Given the description of an element on the screen output the (x, y) to click on. 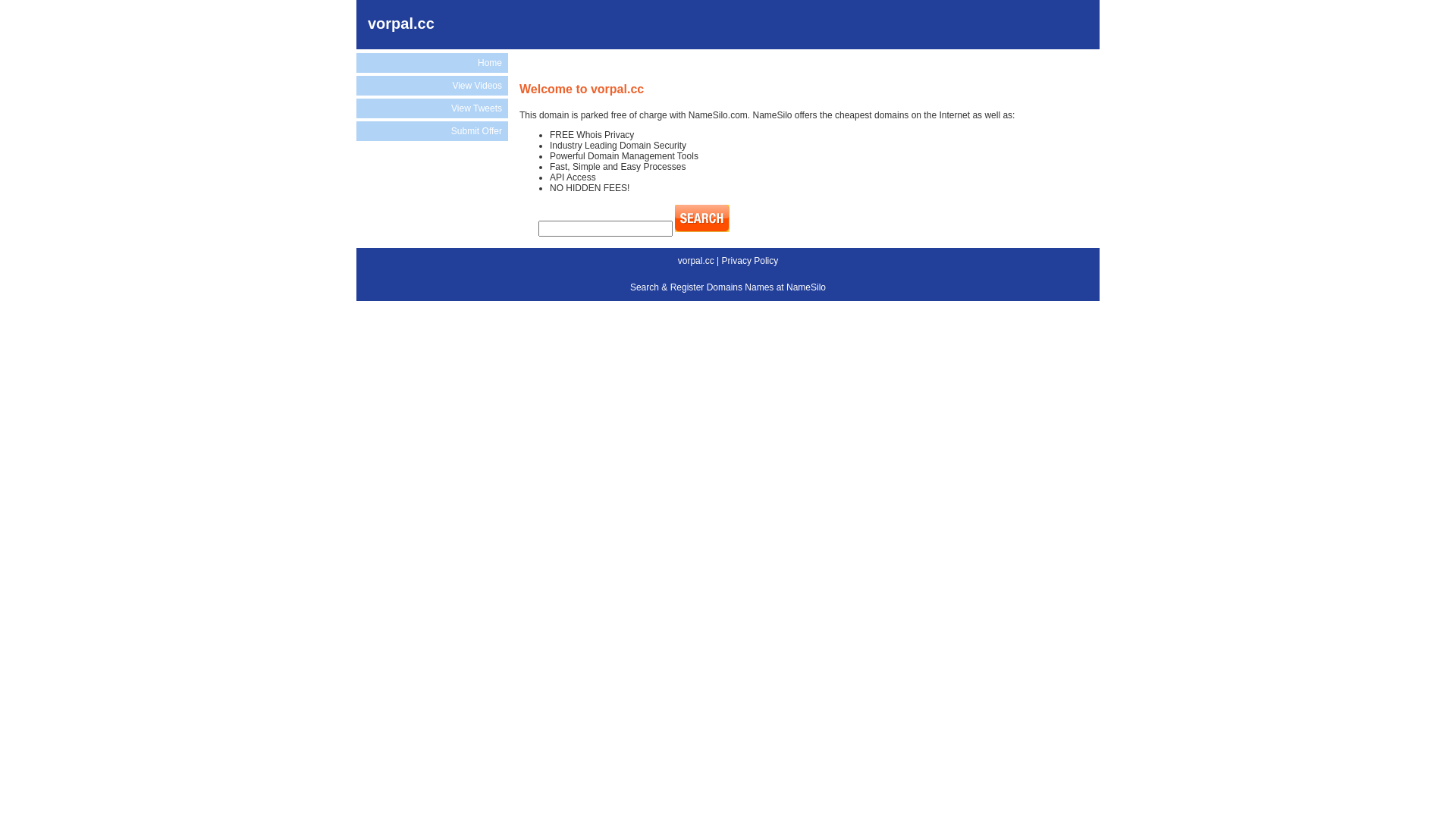
Search & Register Domains Names at NameSilo Element type: text (727, 287)
View Videos Element type: text (432, 85)
Submit Offer Element type: text (432, 131)
Home Element type: text (432, 62)
Privacy Policy Element type: text (749, 260)
View Tweets Element type: text (432, 108)
